Given the description of an element on the screen output the (x, y) to click on. 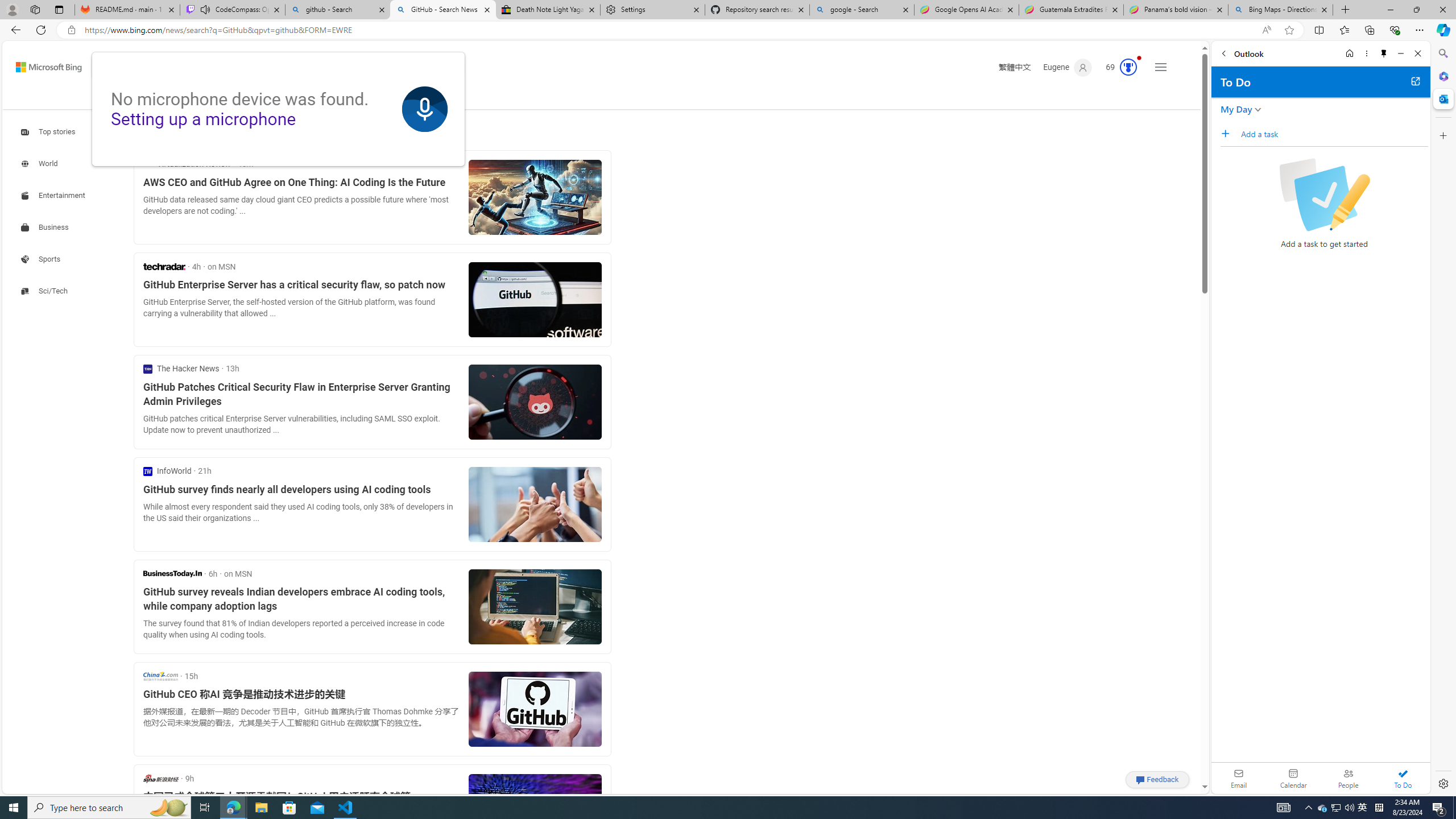
VIDEOS (268, 98)
Dropdown Menu (395, 96)
Search news from InfoWorld (167, 470)
Checkbox with a pencil (1324, 194)
Search news about Top stories (49, 132)
Search news from Virtualization Review (186, 163)
